Given the description of an element on the screen output the (x, y) to click on. 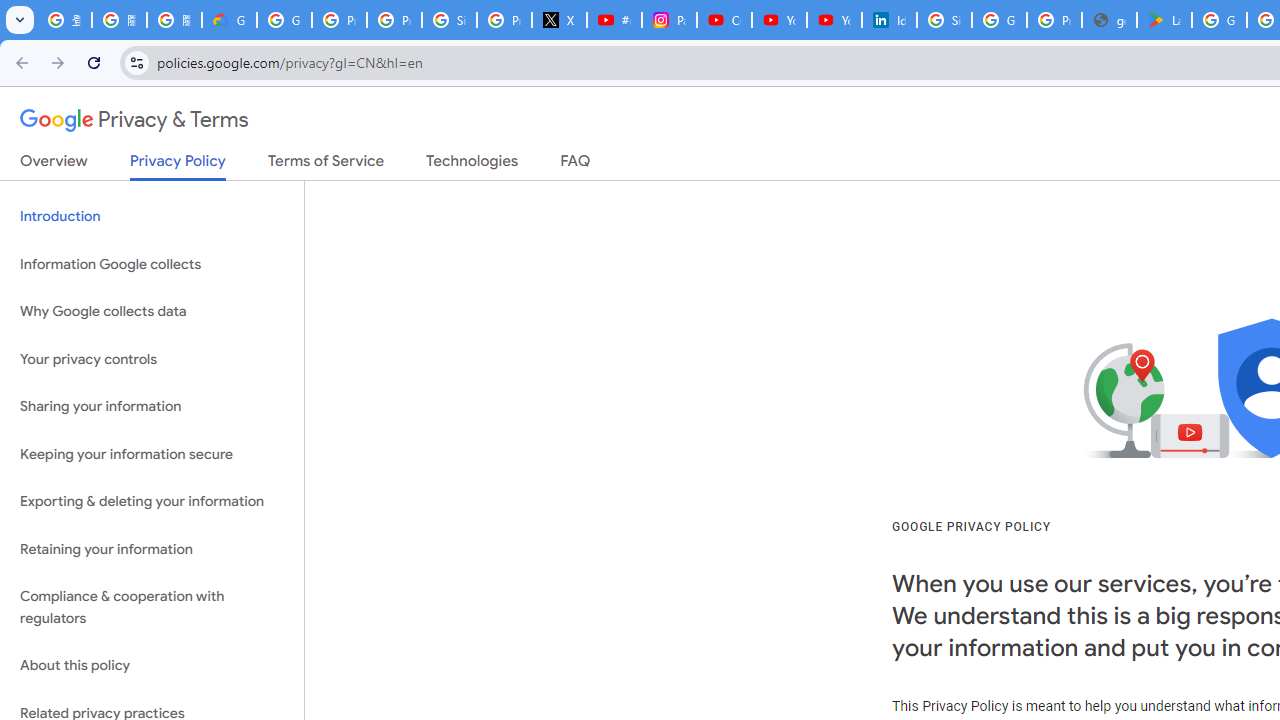
Retaining your information (152, 548)
Exporting & deleting your information (152, 502)
Sign in - Google Accounts (943, 20)
YouTube Culture & Trends - YouTube Top 10, 2021 (833, 20)
Privacy Help Center - Policies Help (394, 20)
Google Cloud Privacy Notice (229, 20)
google_privacy_policy_en.pdf (1108, 20)
FAQ (575, 165)
